Given the description of an element on the screen output the (x, y) to click on. 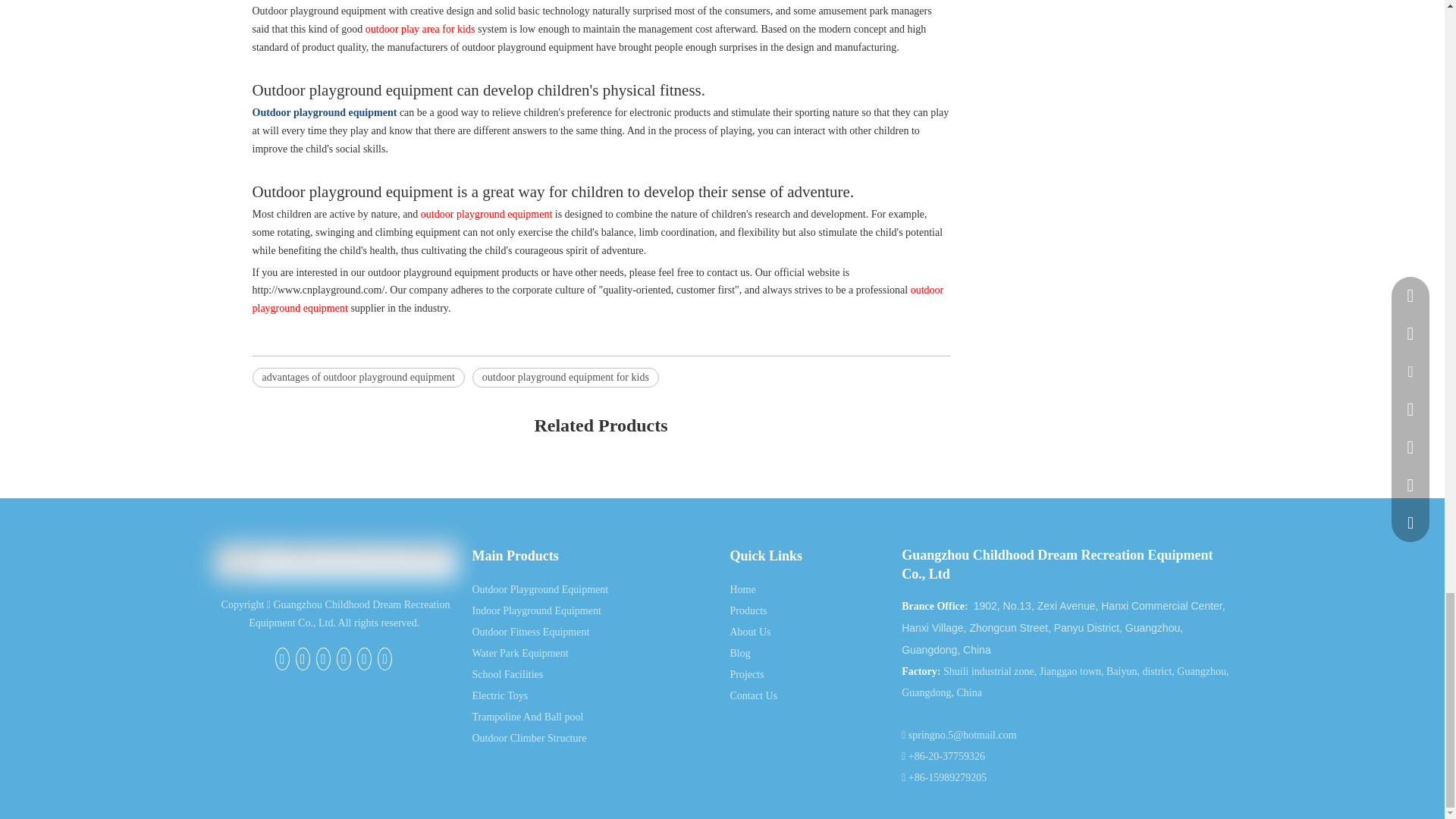
Instagram (384, 658)
Twitter (343, 658)
Youtube (363, 658)
Outdoor Playground Equipment (539, 589)
Outdoor Fitness Equipment (530, 632)
Guangzhou Childhood Dream Recreation Equipment Co., Ltd (335, 561)
Facebook (282, 658)
outdoor playground equipment for kids (565, 377)
advantages of outdoor playground equipment (357, 377)
Indoor Playground Equipment (535, 610)
Linkedin (322, 658)
